Given the description of an element on the screen output the (x, y) to click on. 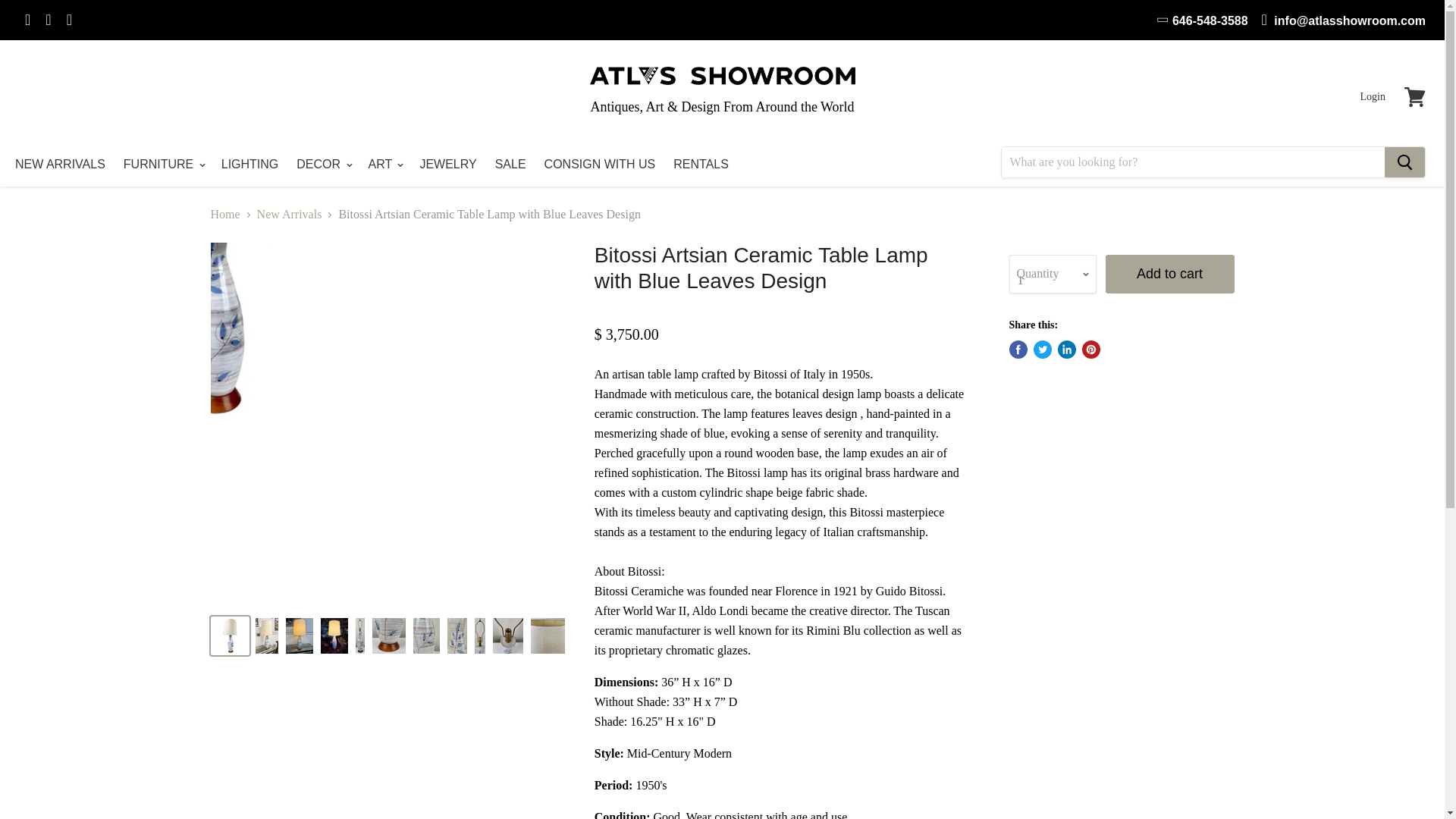
View cart (1414, 96)
646-548-3588 (1202, 19)
ART (385, 164)
DECOR (322, 164)
Login (1372, 97)
NEW ARRIVALS (60, 164)
FURNITURE (163, 164)
LIGHTING (250, 164)
